Given the description of an element on the screen output the (x, y) to click on. 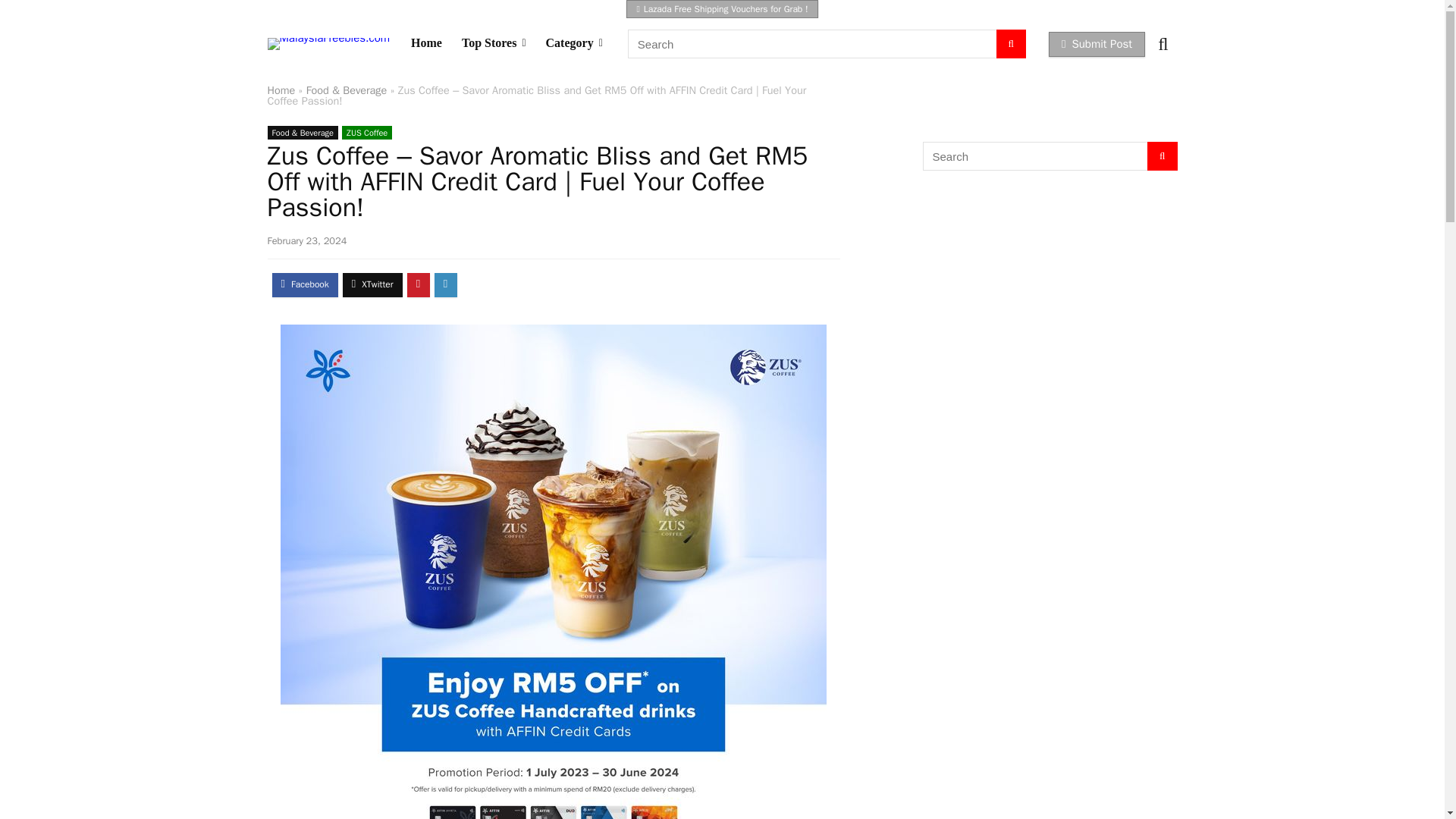
Top Stores (493, 43)
ZUS Coffee (366, 132)
Submit Post (1096, 43)
Category (573, 43)
Home (426, 43)
Lazada Free Shipping Vouchers for Grab ! (721, 9)
Home (280, 90)
View all posts in ZUS Coffee (366, 132)
